Given the description of an element on the screen output the (x, y) to click on. 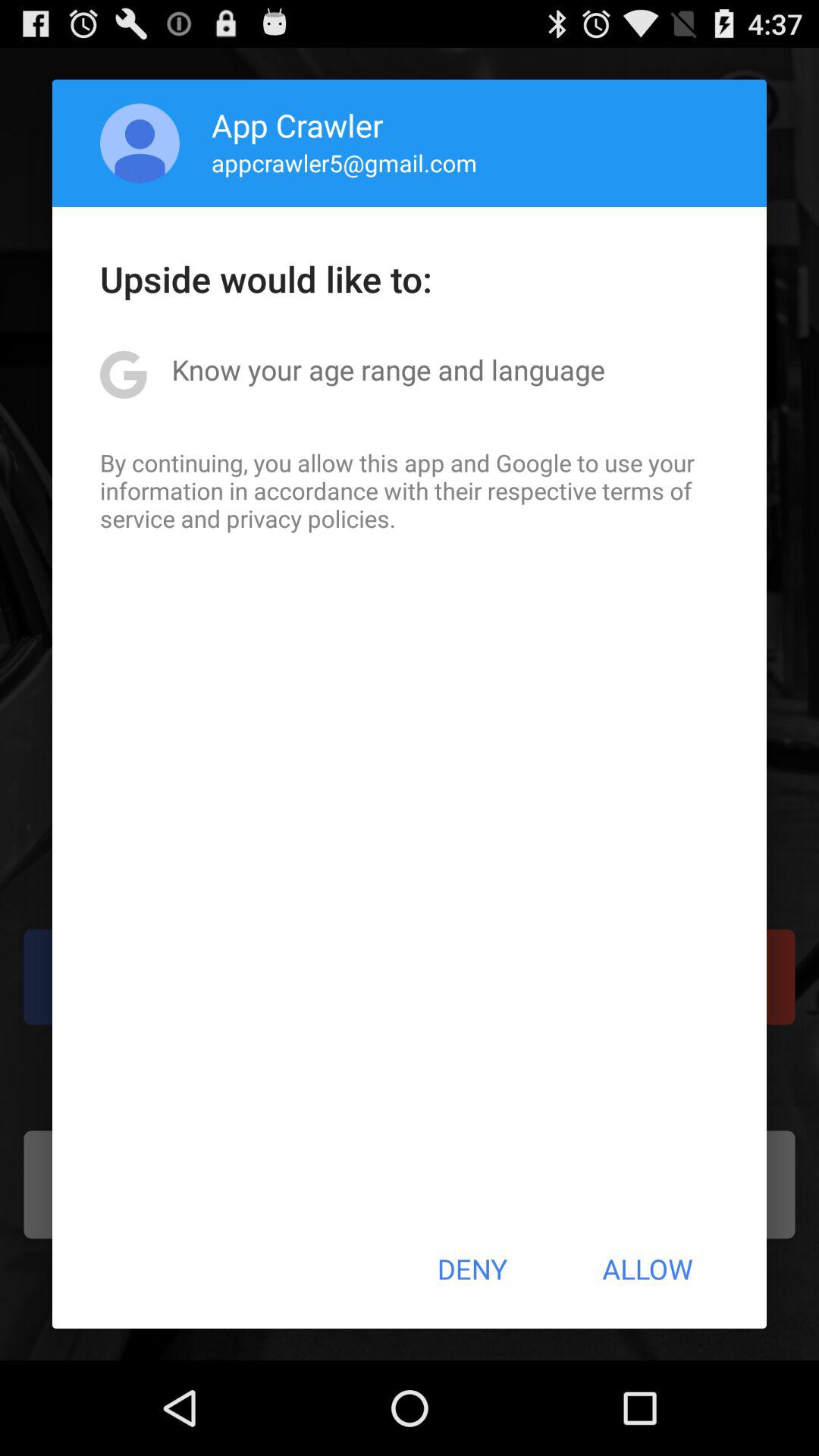
turn off appcrawler5@gmail.com (344, 162)
